Given the description of an element on the screen output the (x, y) to click on. 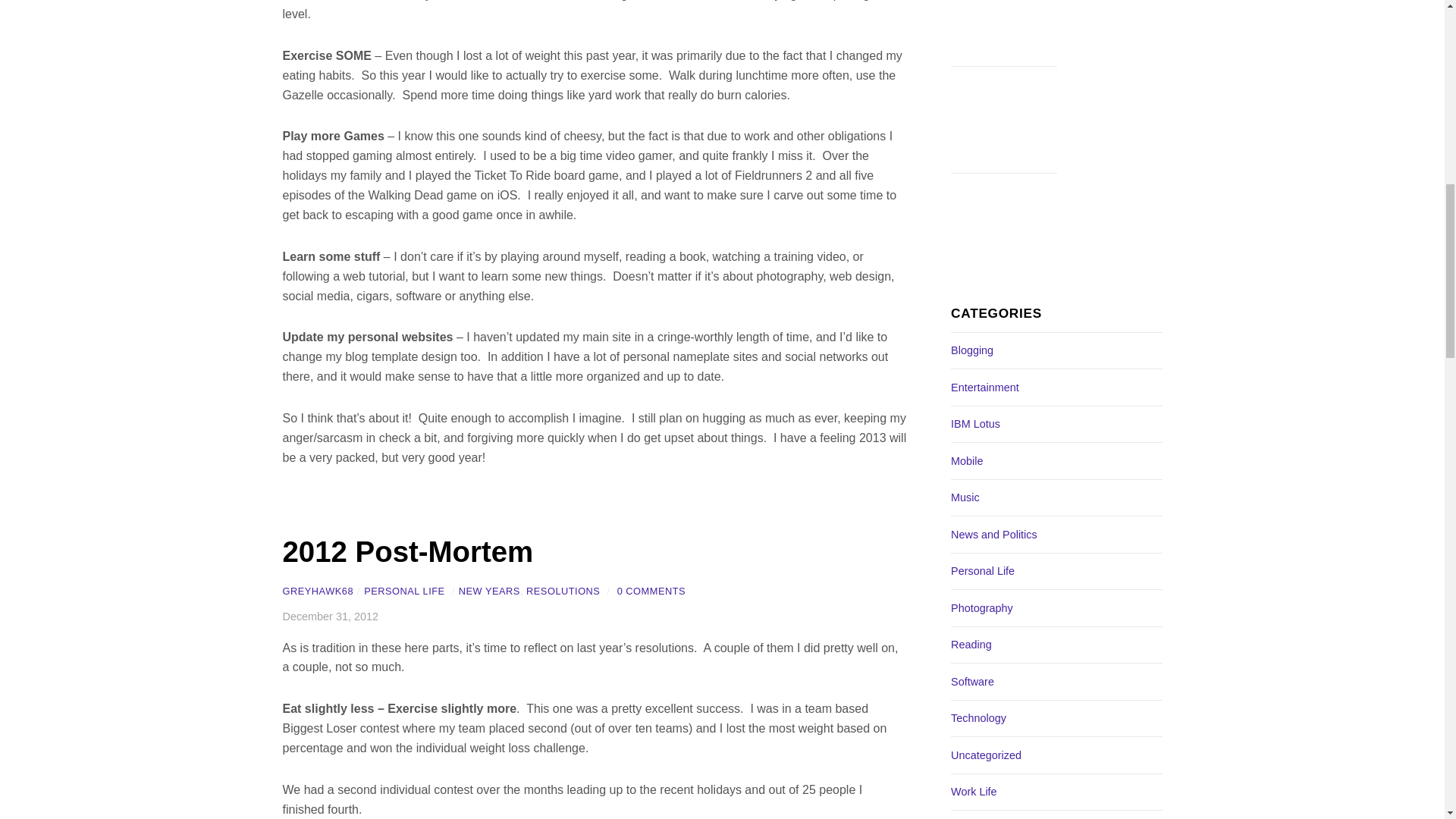
GREYHAWK68 (317, 591)
0 COMMENTS (651, 591)
NEW YEARS (488, 591)
Saw a doggo on a fire escape on my morning walk at work (1003, 33)
PERSONAL LIFE (404, 591)
RESOLUTIONS (562, 591)
2012 Post-Mortem (407, 551)
